Given the description of an element on the screen output the (x, y) to click on. 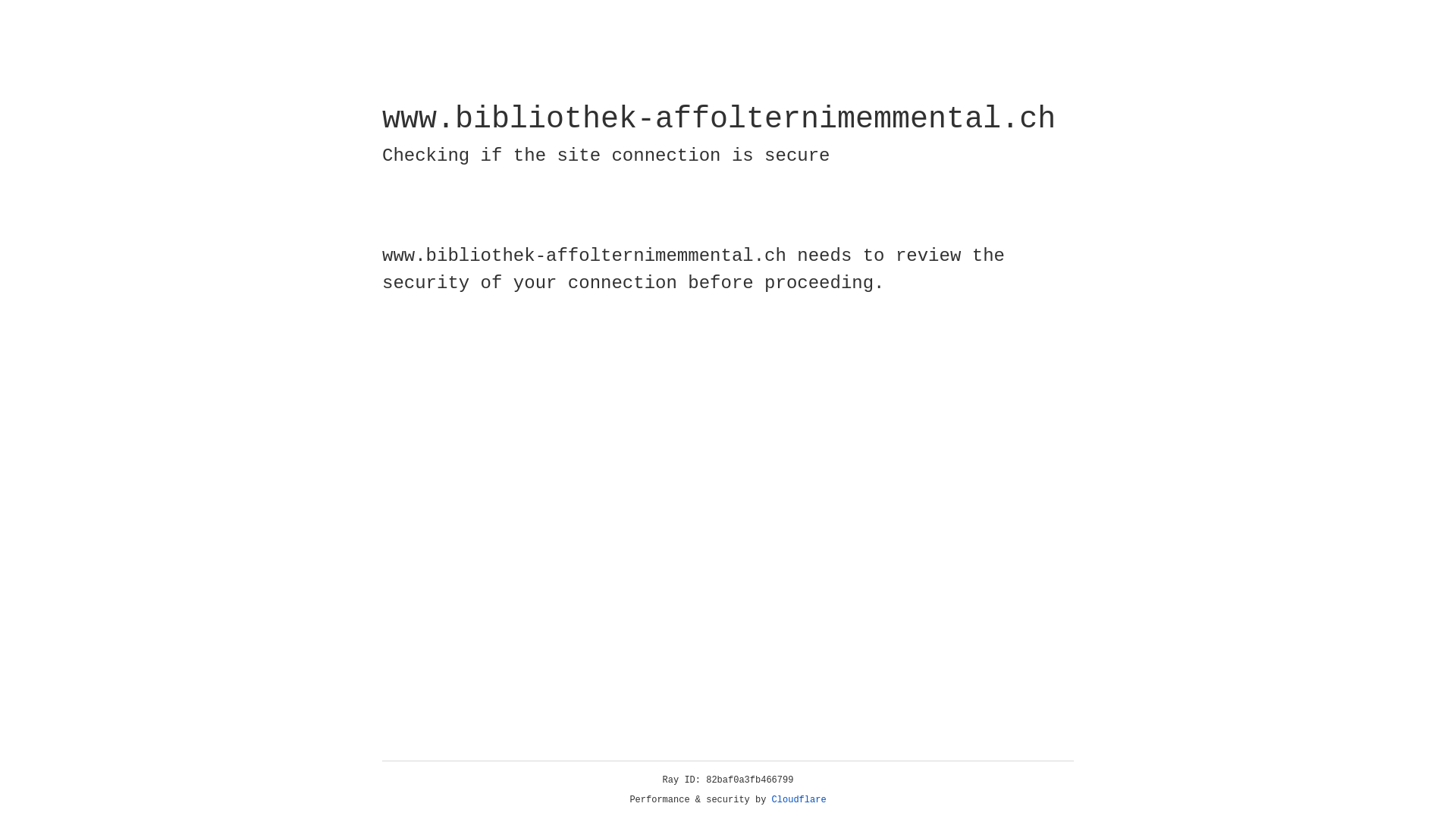
Cloudflare Element type: text (798, 799)
